Given the description of an element on the screen output the (x, y) to click on. 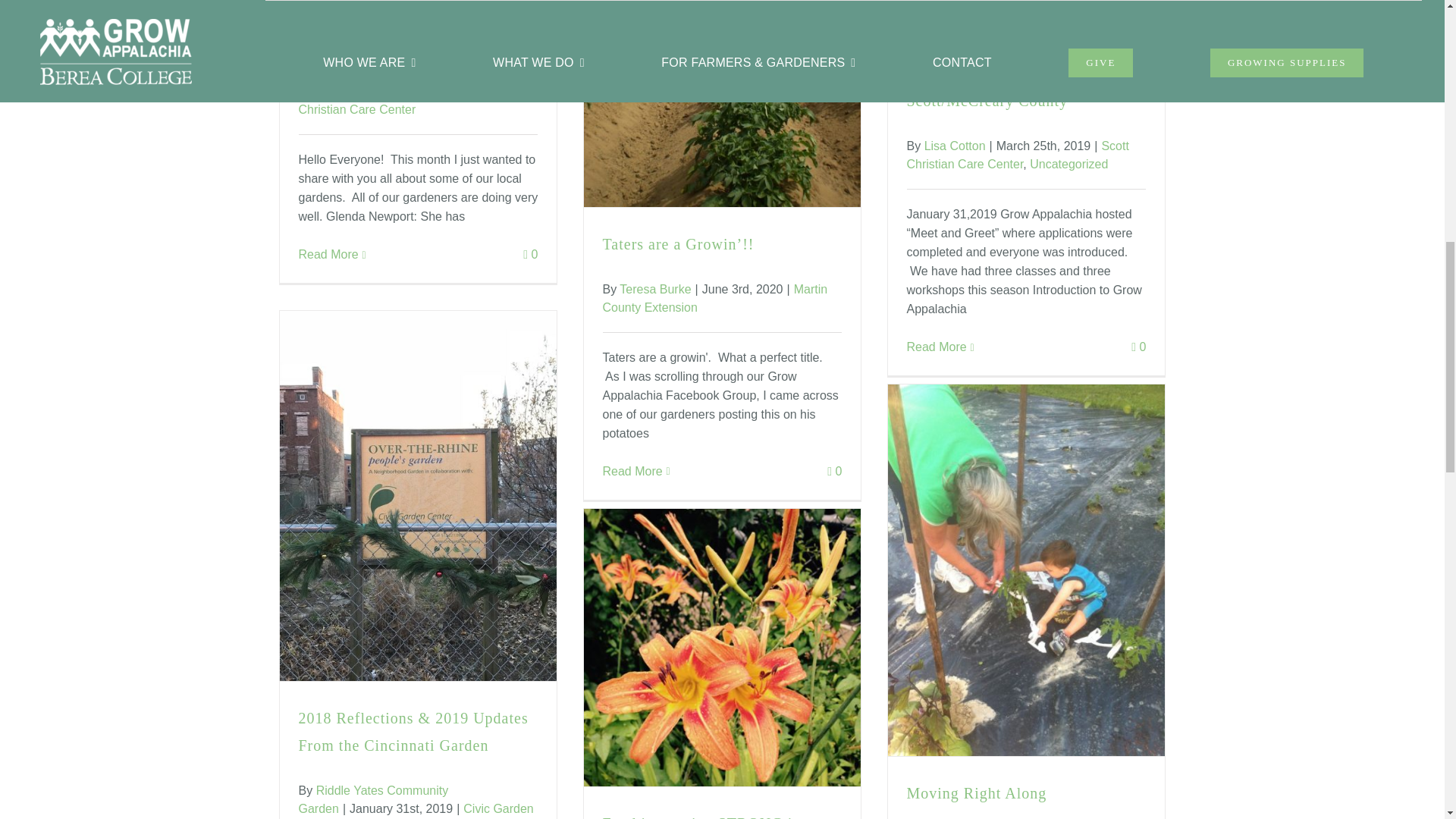
Posts by Lisa Cotton (346, 91)
Posts by Teresa Burke (655, 288)
Posts by Lisa Cotton (954, 145)
Posts by Riddle Yates Community Garden (373, 798)
